Given the description of an element on the screen output the (x, y) to click on. 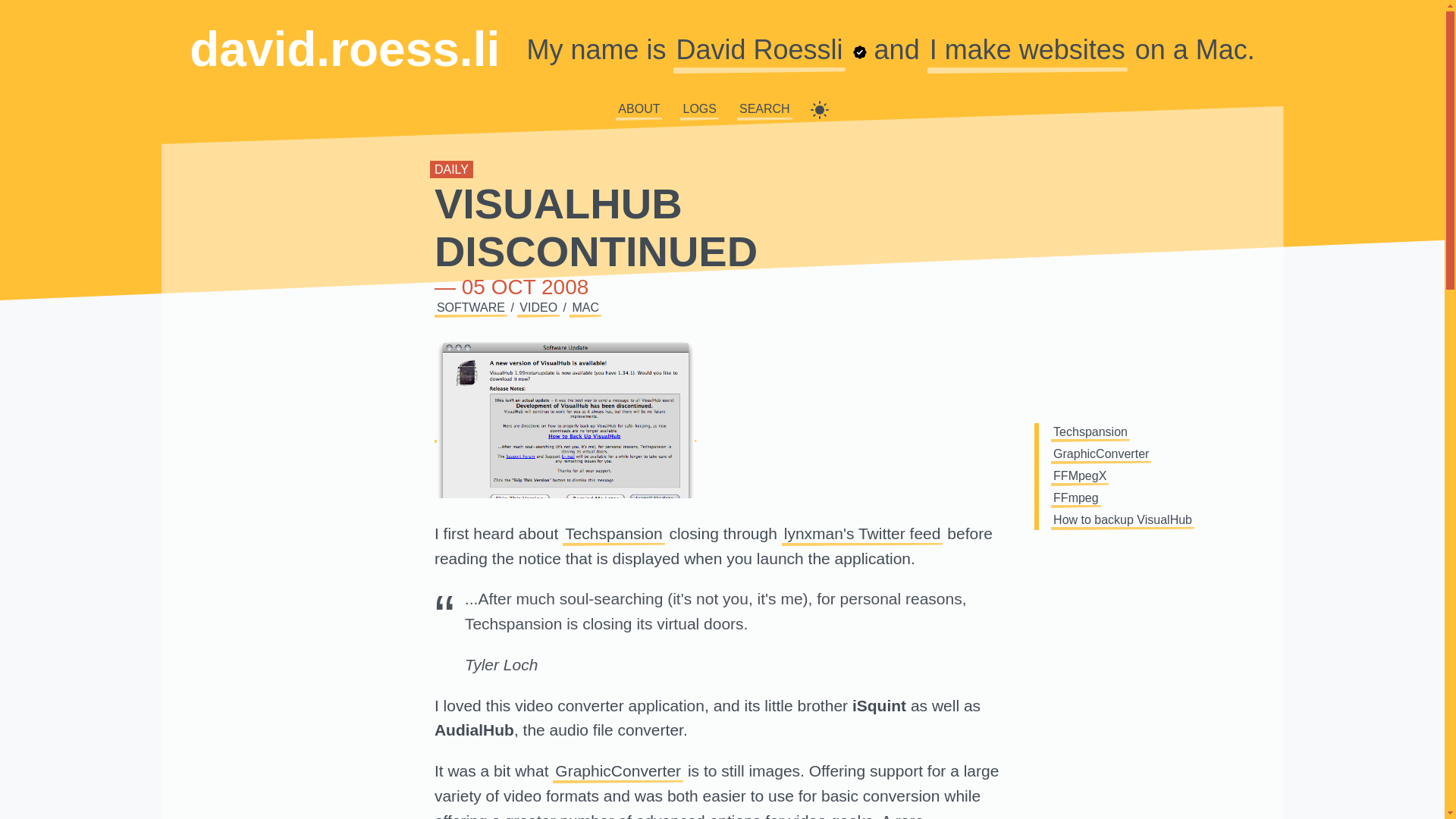
HOME (733, 108)
Permalink to this entry (595, 227)
Techspansion (612, 533)
List of recent posts, links and travel blgs (698, 108)
Techspansion (612, 533)
David Roessli (758, 49)
GraphicConverter (617, 771)
SEARCH (764, 108)
FFMpegX (1079, 475)
Back to homepage (344, 49)
